Given the description of an element on the screen output the (x, y) to click on. 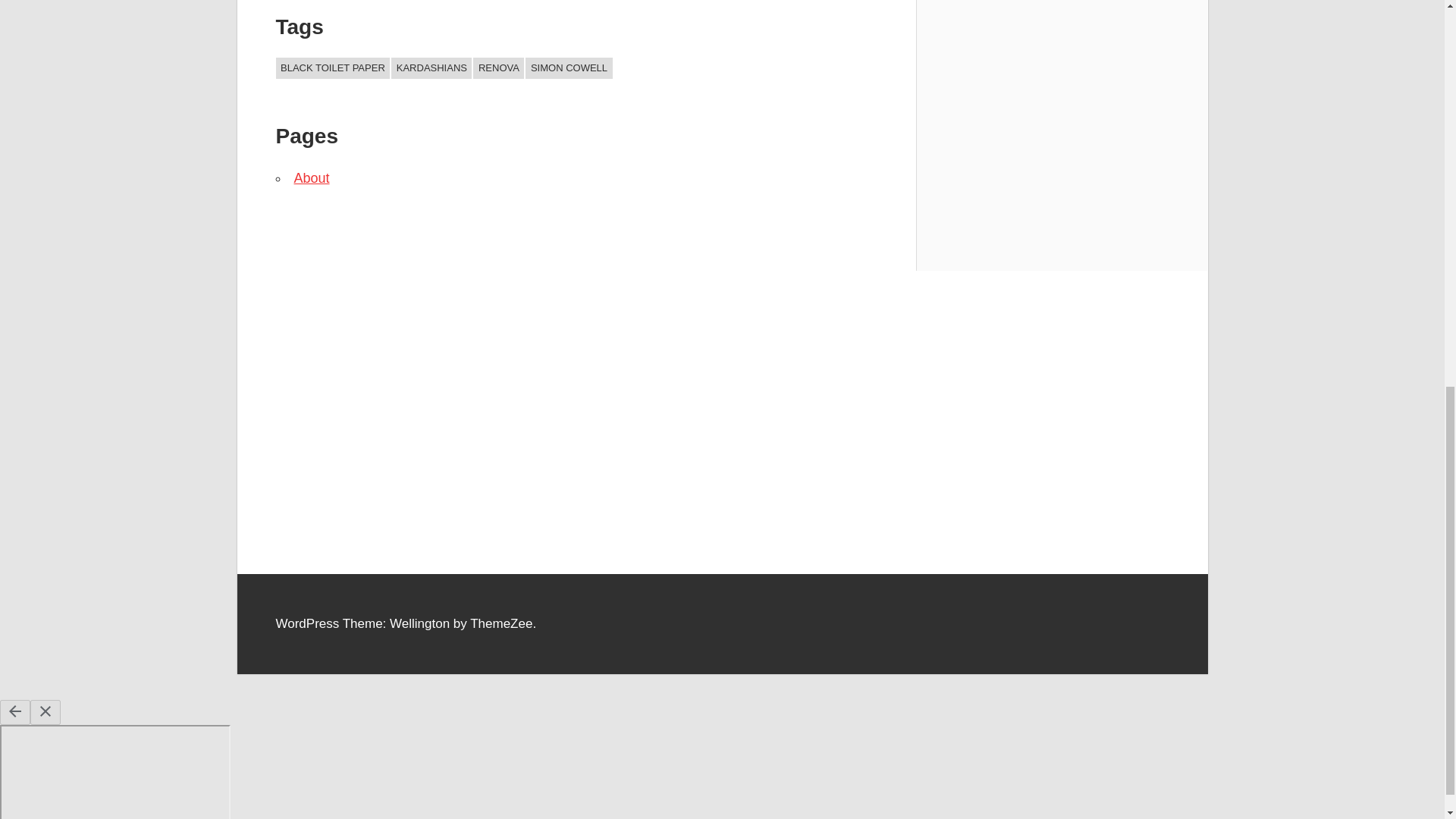
BLACK TOILET PAPER (333, 67)
SIMON COWELL (568, 67)
About (312, 177)
RENOVA (498, 67)
KARDASHIANS (431, 67)
Advertisement (721, 531)
